Given the description of an element on the screen output the (x, y) to click on. 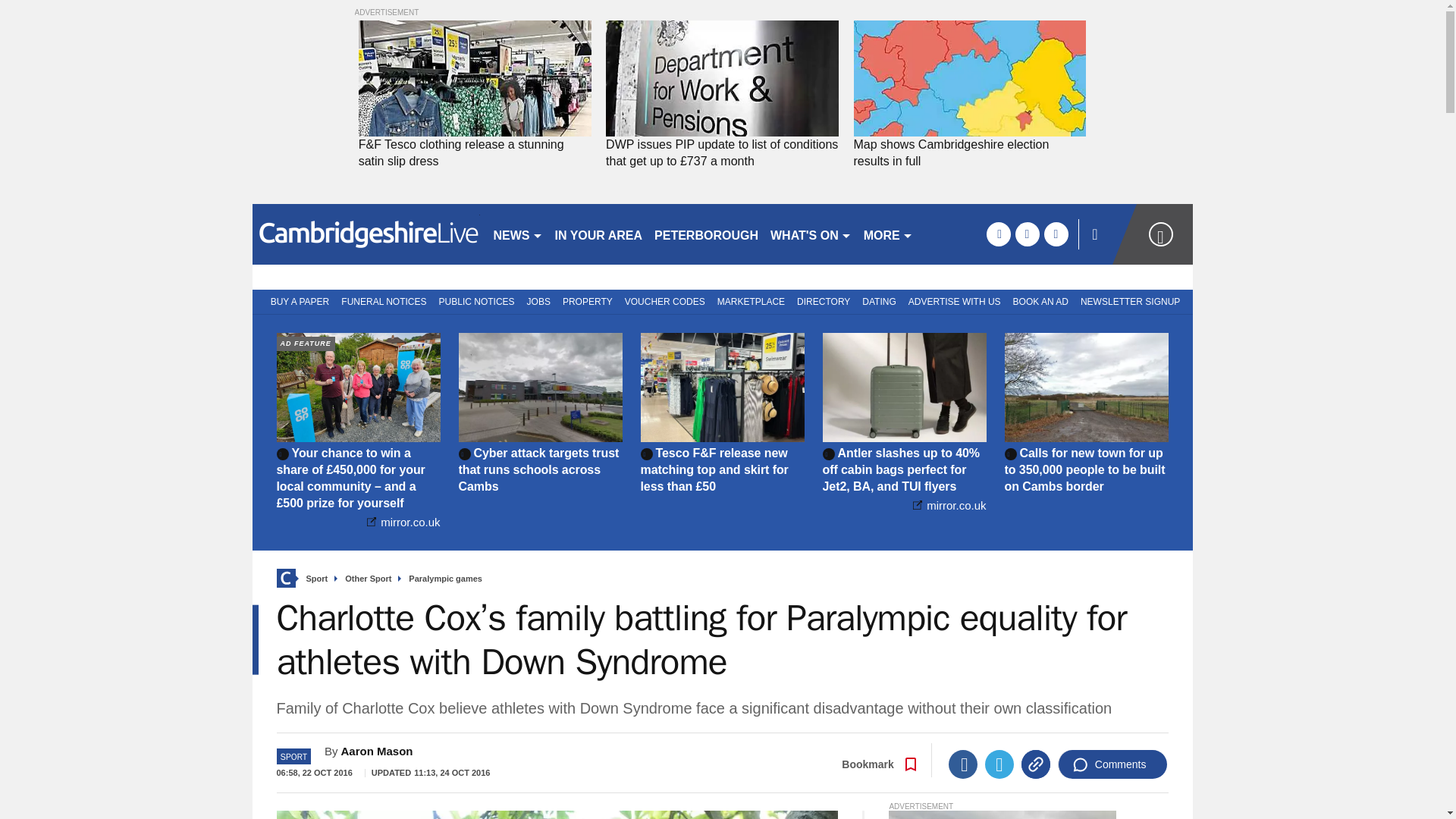
twitter (1026, 233)
NEWS (517, 233)
WHAT'S ON (810, 233)
instagram (1055, 233)
Twitter (999, 764)
cambridgenews (365, 233)
Map shows Cambridgeshire election results in full (969, 78)
Comments (1112, 764)
facebook (997, 233)
PETERBOROUGH (705, 233)
IN YOUR AREA (598, 233)
MORE (887, 233)
Facebook (962, 764)
Map shows Cambridgeshire election results in full (969, 152)
Map shows Cambridgeshire election results in full (969, 152)
